Given the description of an element on the screen output the (x, y) to click on. 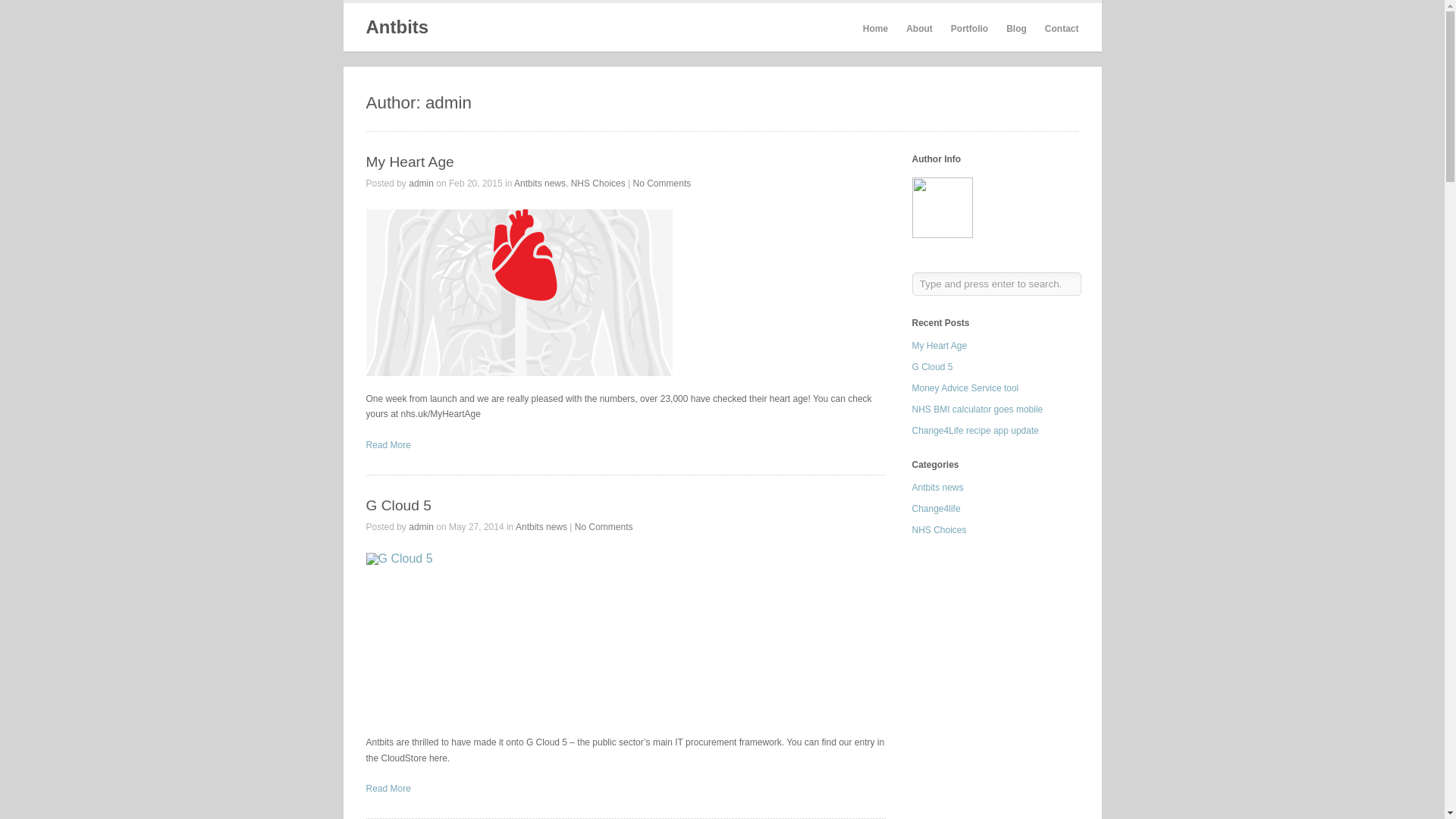
Read More (387, 444)
My Heart Age (408, 161)
Antbits (396, 26)
No Comments (604, 526)
G Cloud 5 (397, 505)
Blog (1016, 28)
G Cloud 5 (387, 787)
About (919, 28)
Antbits news (539, 183)
My Heart Age (518, 292)
admin (421, 183)
admin (421, 526)
NHS Choices (598, 183)
Antbits news (541, 526)
No Comments (662, 183)
